Given the description of an element on the screen output the (x, y) to click on. 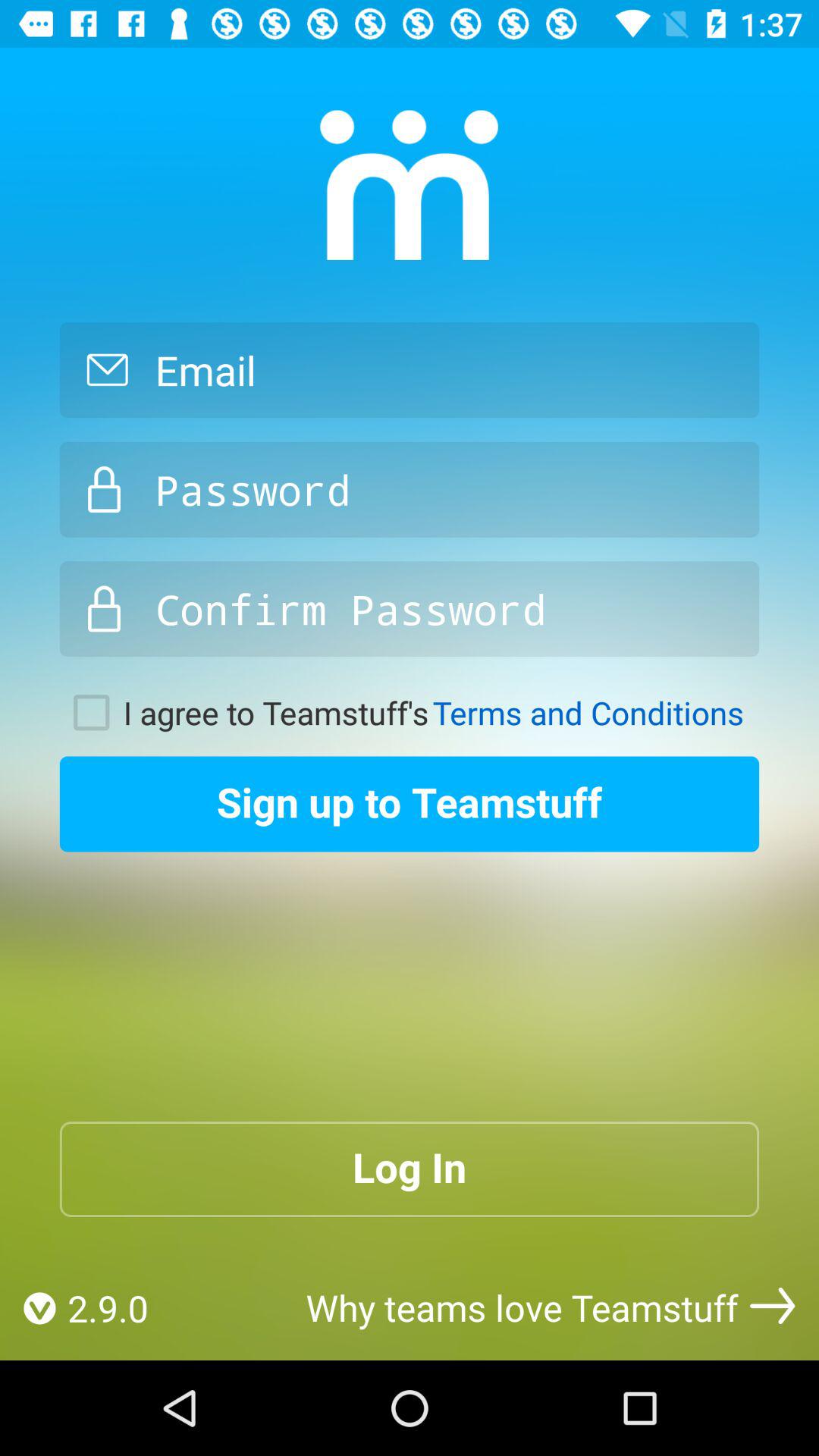
enter password (409, 489)
